Given the description of an element on the screen output the (x, y) to click on. 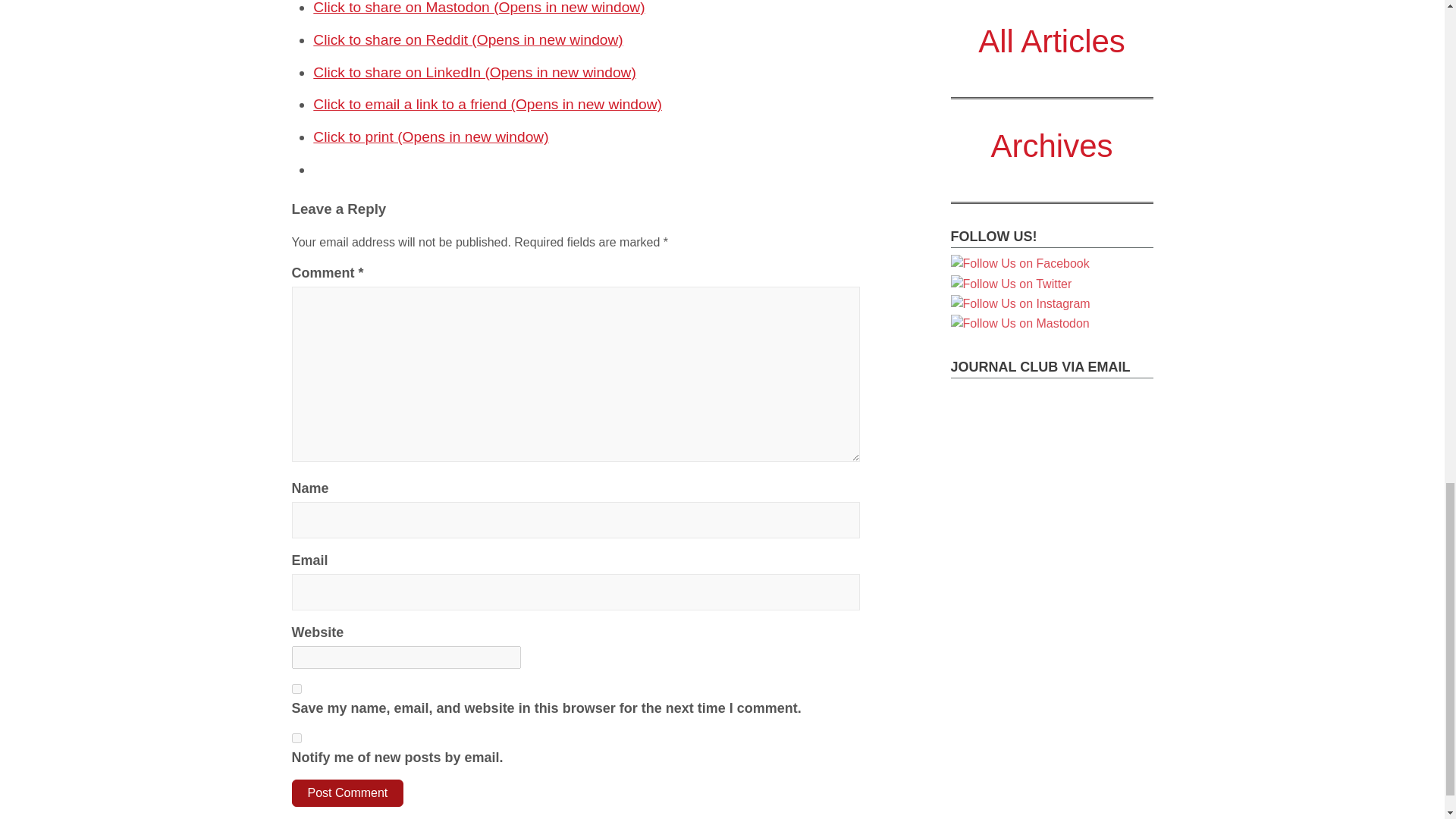
Click to share on Reddit (468, 39)
yes (296, 688)
Post Comment (347, 792)
Click to share on Mastodon (479, 7)
Post Comment (347, 792)
Click to share on LinkedIn (474, 72)
Click to print (430, 136)
subscribe (296, 737)
Click to email a link to a friend (487, 104)
